Given the description of an element on the screen output the (x, y) to click on. 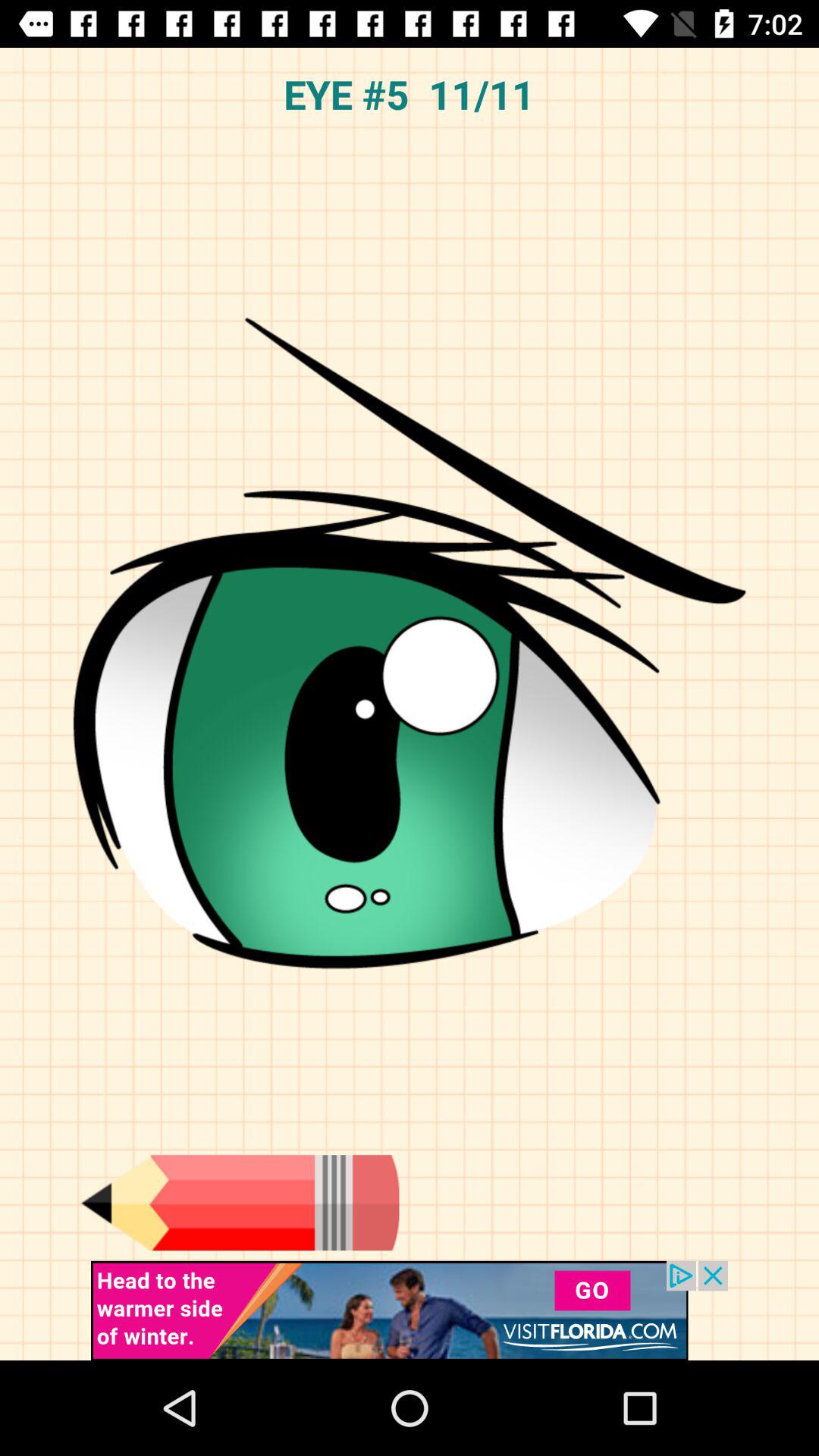
advertisement banner (409, 1310)
